Given the description of an element on the screen output the (x, y) to click on. 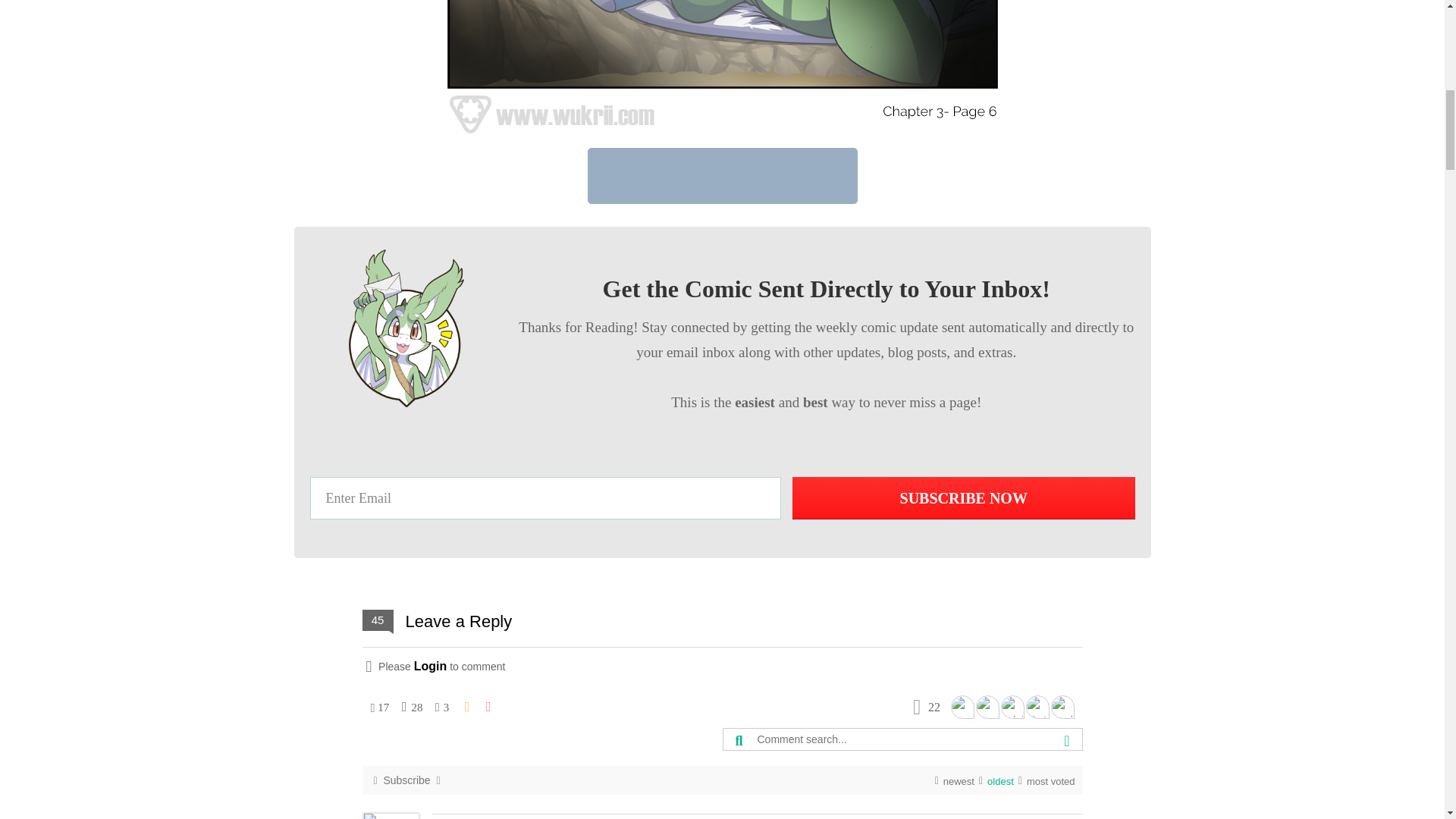
Login (429, 666)
Gatsumann (1036, 707)
AmigaDragon (1062, 707)
Lagoloid (962, 707)
Bunnyoffuzz (986, 707)
eric789 (1013, 707)
SUBSCRIBE NOW (963, 497)
